Given the description of an element on the screen output the (x, y) to click on. 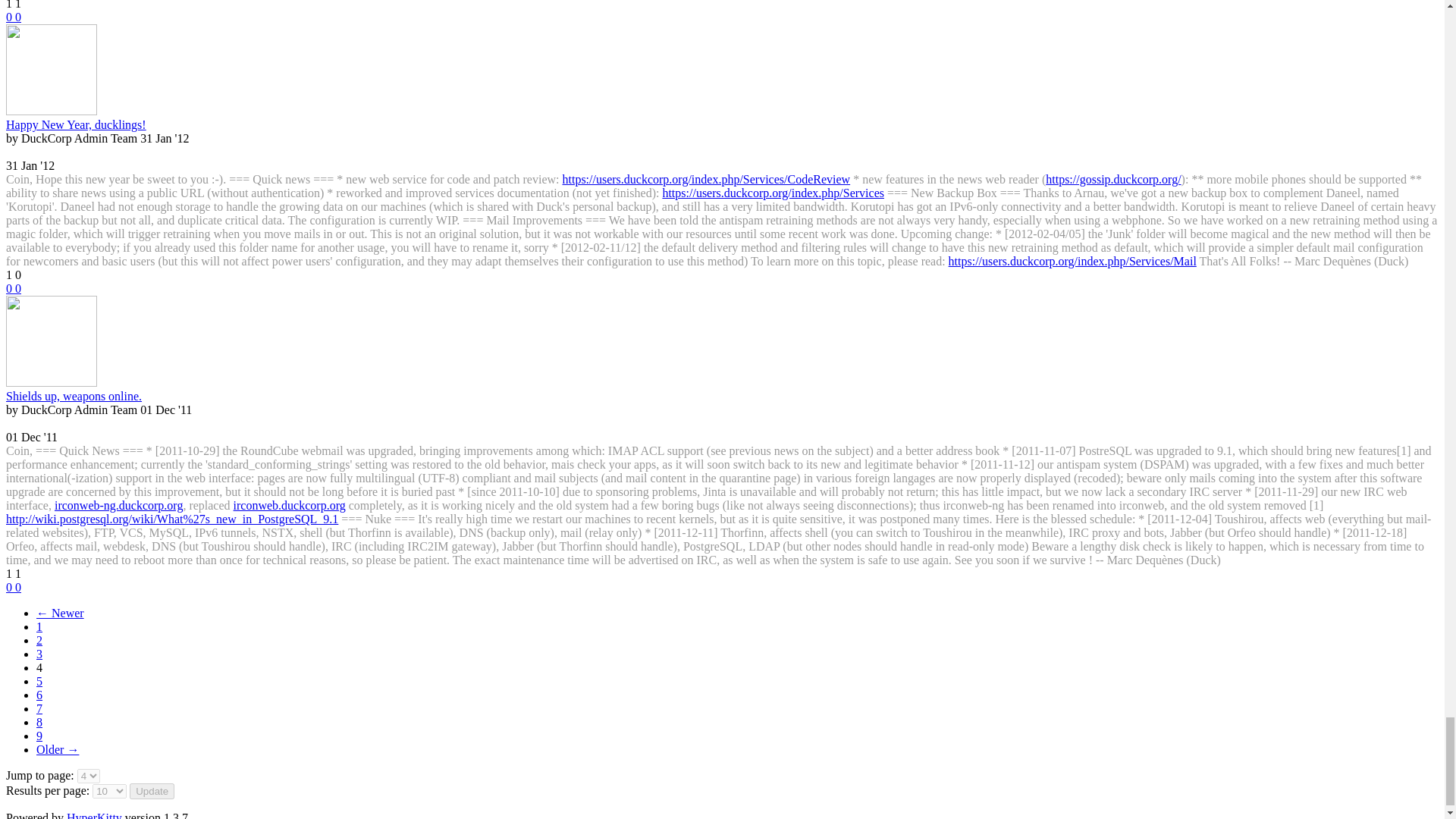
Update (151, 790)
